Given the description of an element on the screen output the (x, y) to click on. 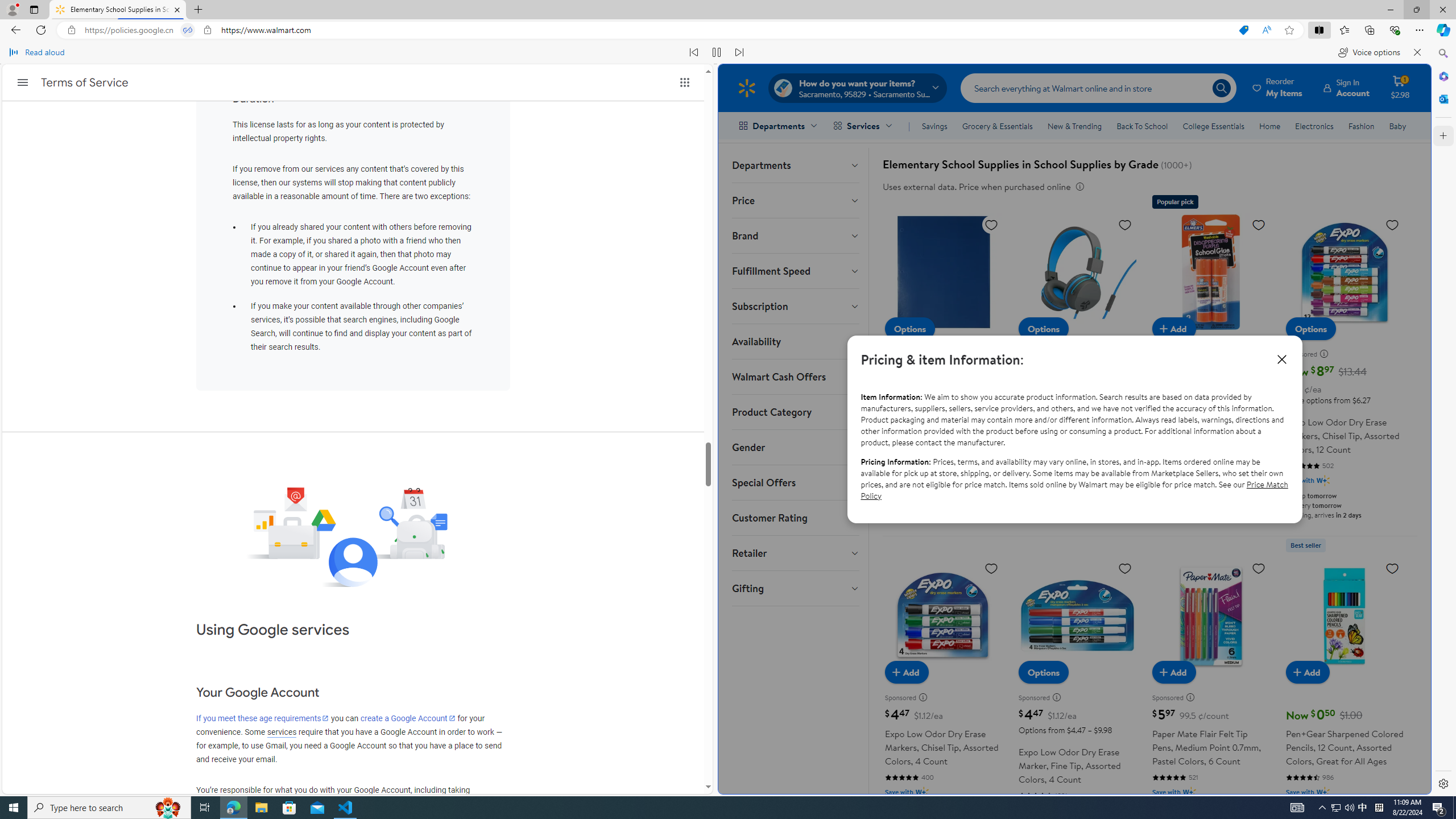
Pause read aloud (Ctrl+Shift+U) (716, 52)
Tabs in split screen (187, 29)
